Given the description of an element on the screen output the (x, y) to click on. 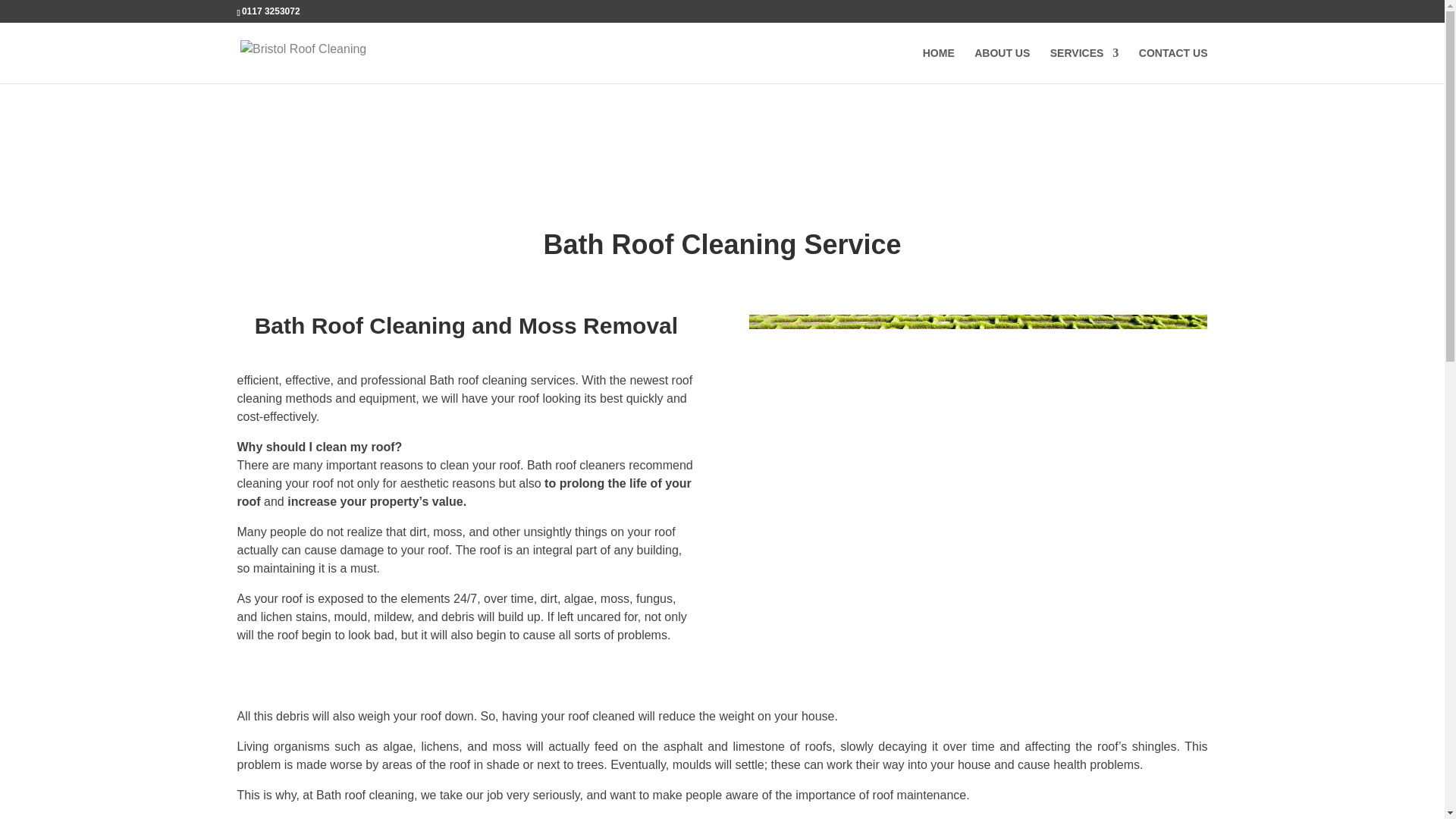
CONTACT US (1173, 65)
HOME (939, 65)
ABOUT US (1001, 65)
SERVICES (1084, 65)
